Given the description of an element on the screen output the (x, y) to click on. 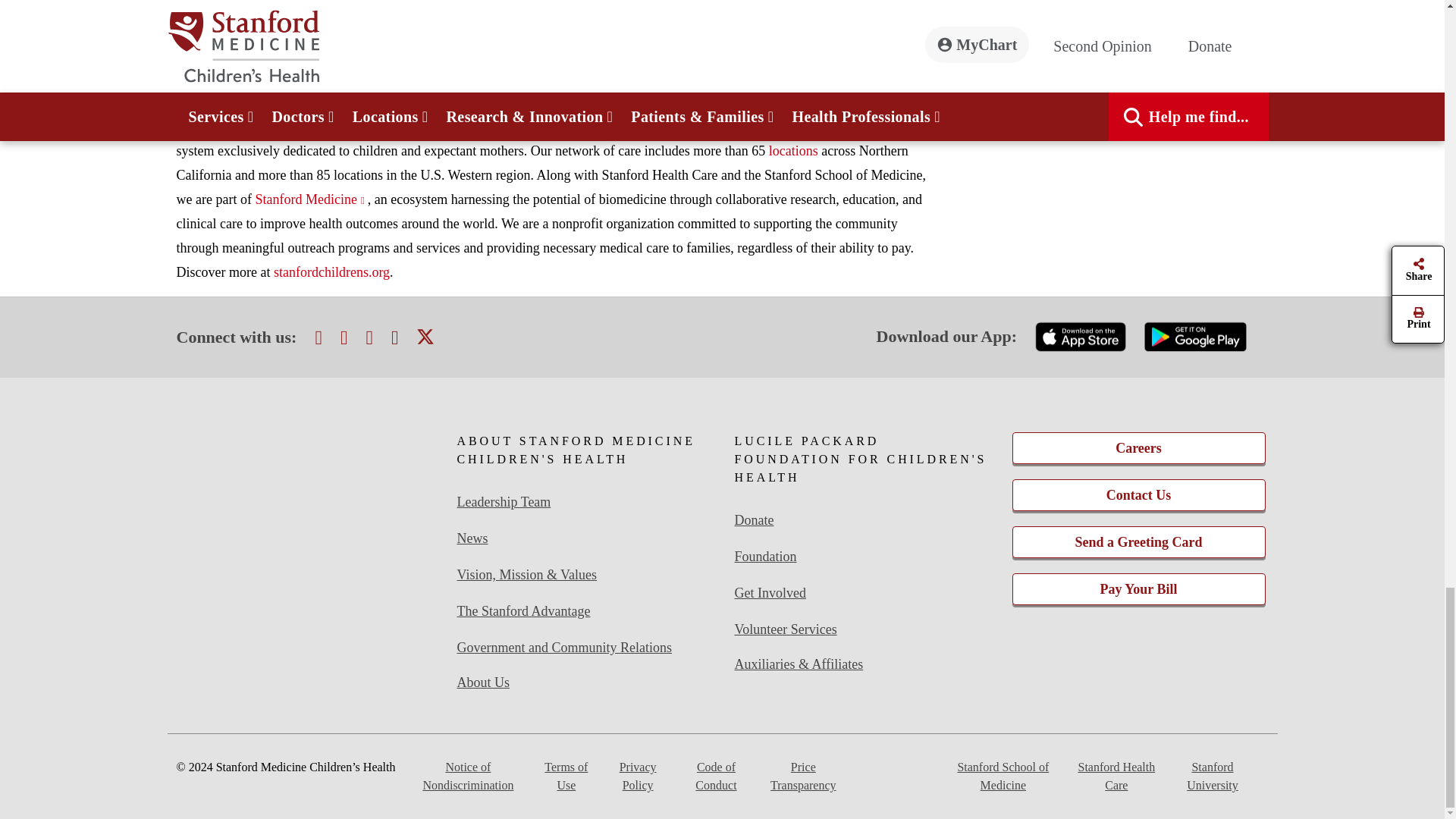
U.S. News Best Hospital (305, 565)
Magnet (305, 469)
